Given the description of an element on the screen output the (x, y) to click on. 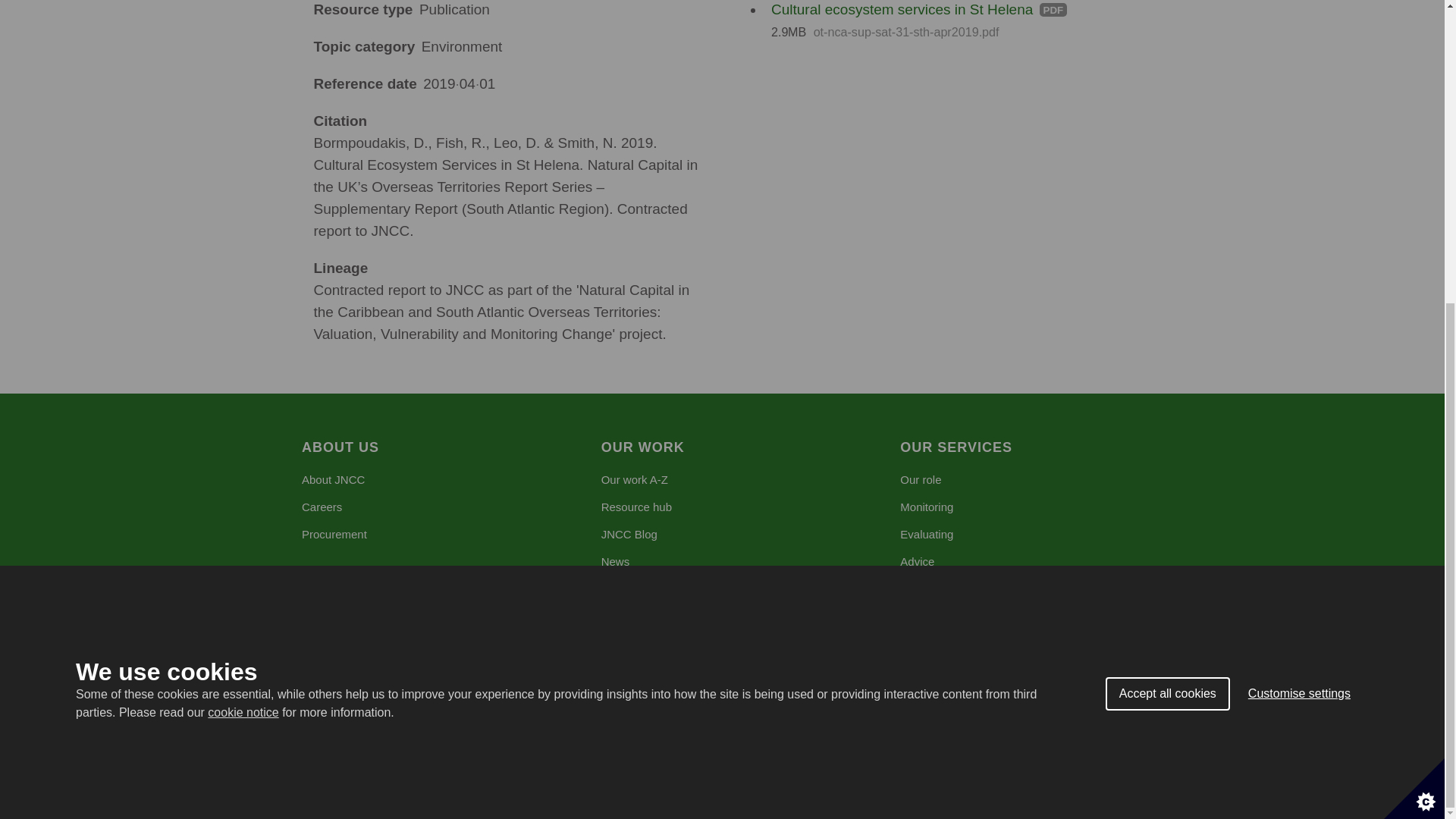
Dataset Reference Date (459, 83)
Accept all cookies (1167, 368)
cookie notice (243, 434)
Customise settings (1299, 327)
contact (595, 729)
